Given the description of an element on the screen output the (x, y) to click on. 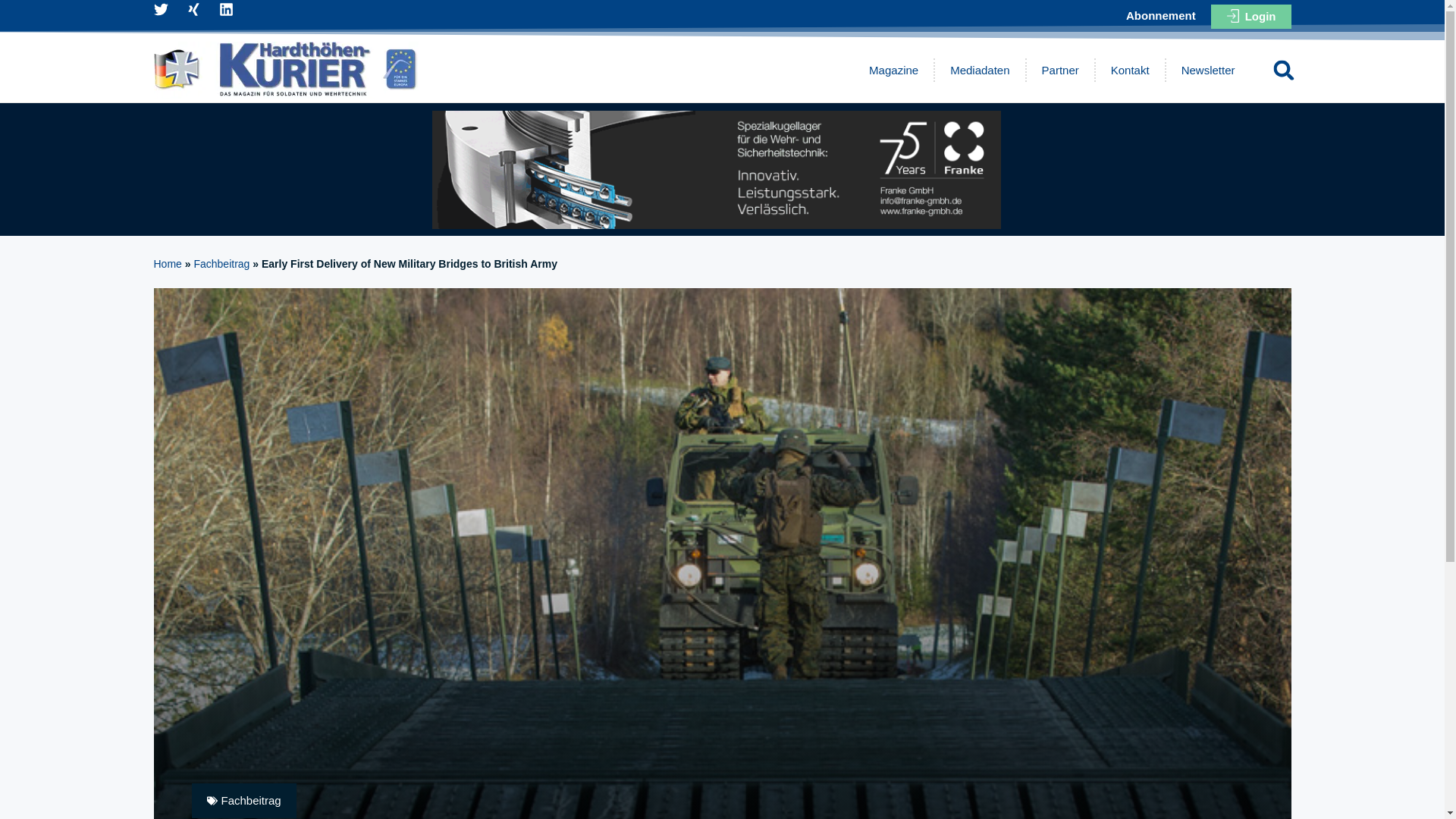
Partner (1060, 69)
Fachbeitrag (251, 799)
Kontakt (1130, 69)
Mediadaten (979, 69)
Fachbeitrag (220, 263)
Home (166, 263)
Login (1251, 16)
Abonnement (1160, 17)
Newsletter (1208, 69)
Magazine (893, 69)
